Given the description of an element on the screen output the (x, y) to click on. 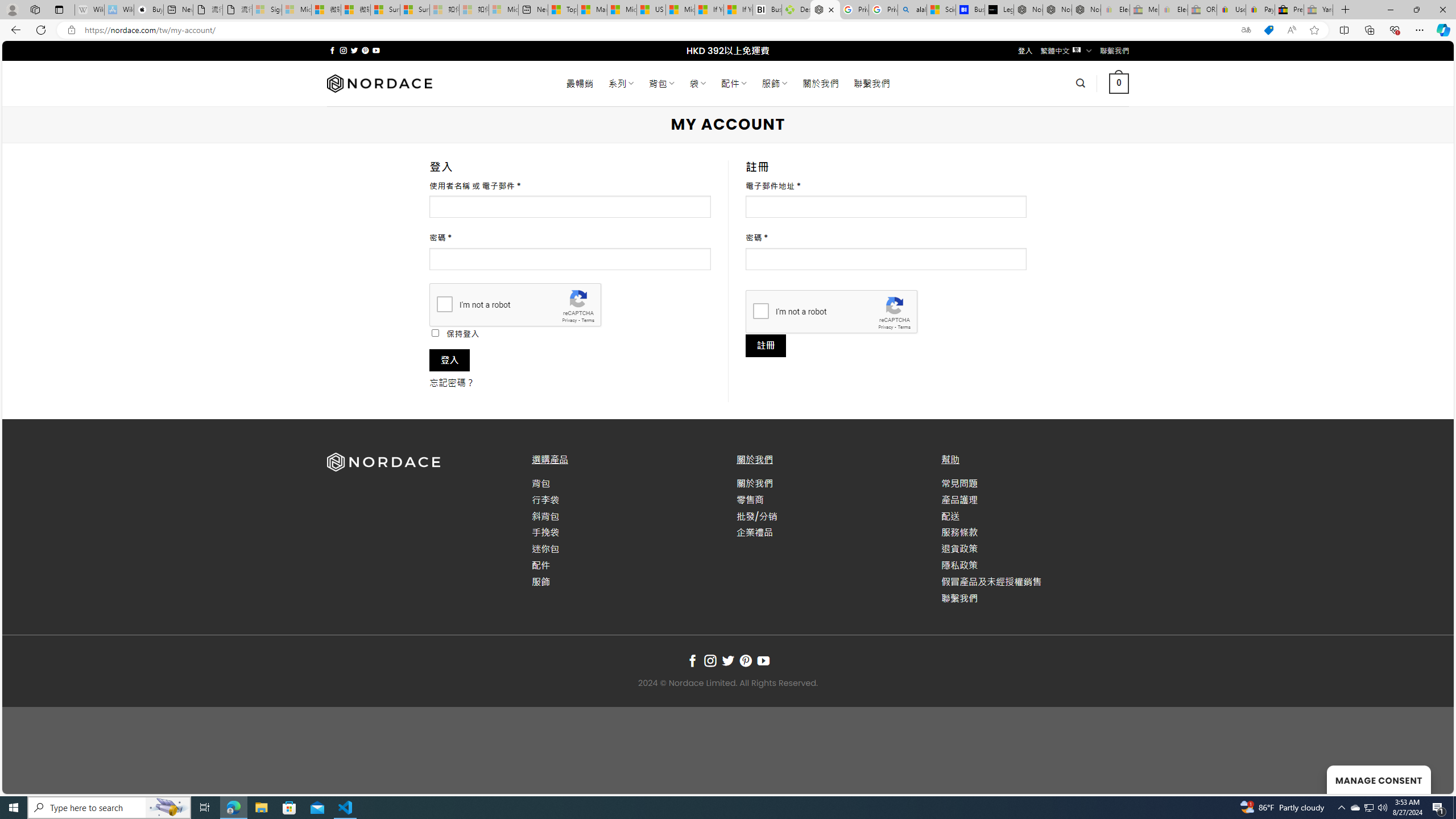
I'm not a robot (760, 310)
Follow on Facebook (691, 660)
